Given the description of an element on the screen output the (x, y) to click on. 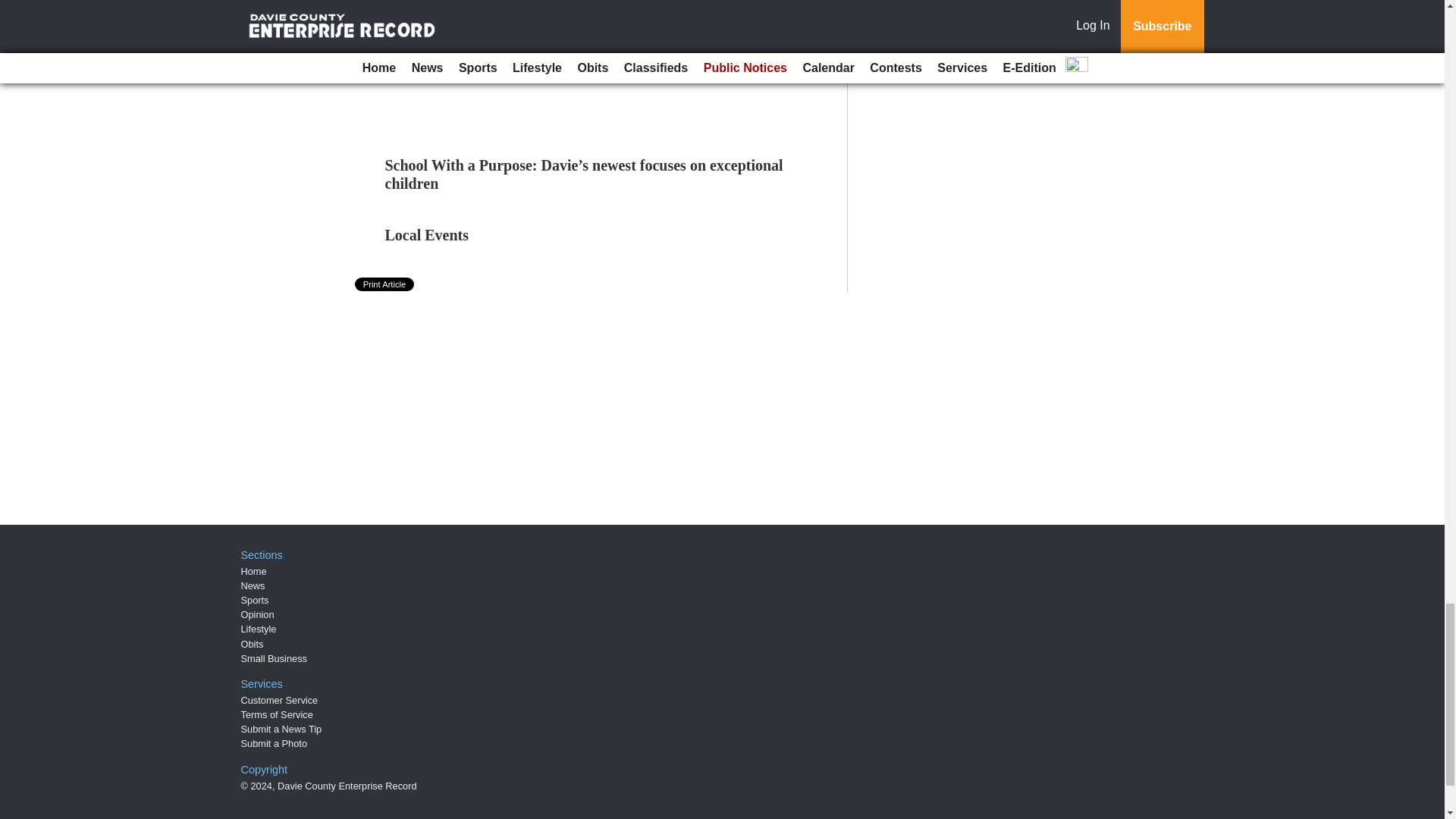
News (252, 585)
Home (253, 571)
Local Events (426, 234)
Print Article (384, 284)
Local Events (426, 234)
